Given the description of an element on the screen output the (x, y) to click on. 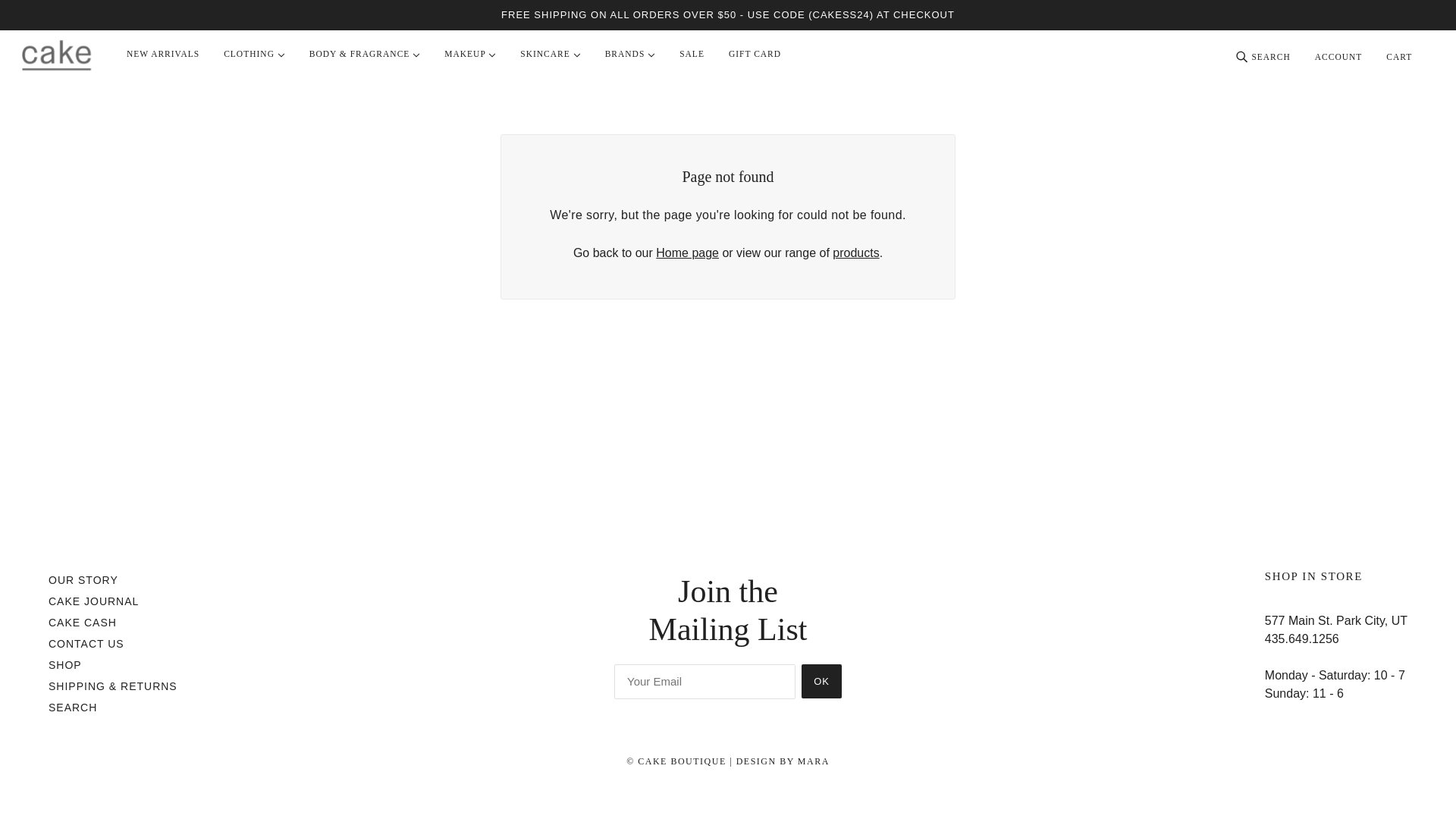
cake (56, 54)
Contact Us (85, 644)
Shop (64, 664)
Cake Journal (93, 601)
MAKEUP (470, 53)
CLOTHING (254, 53)
NEW ARRIVALS (163, 53)
Search (72, 707)
Our Story (82, 580)
CAKE CASH (82, 622)
